Given the description of an element on the screen output the (x, y) to click on. 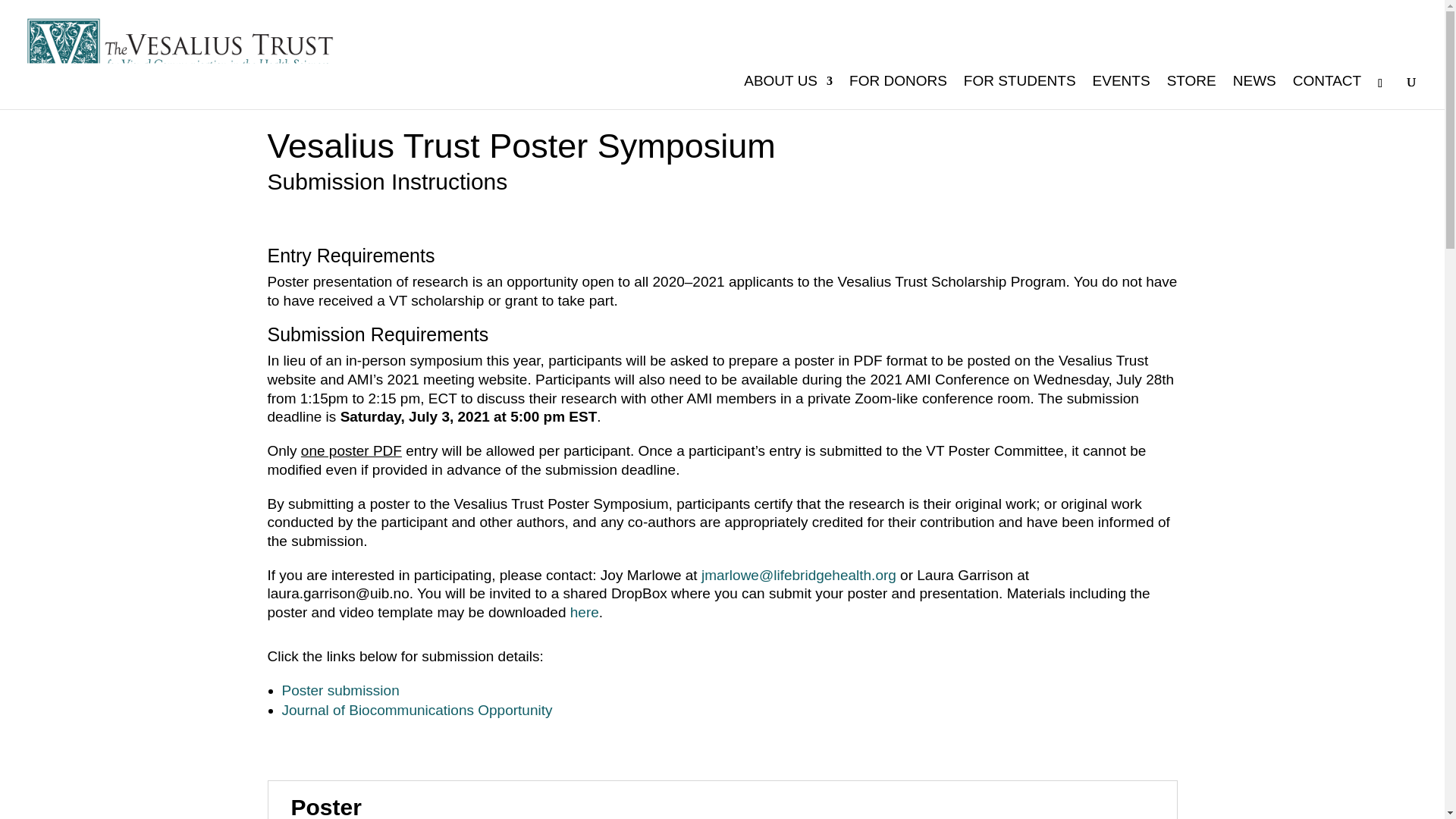
FOR STUDENTS (1019, 92)
NEWS (1254, 92)
CONTACT (1326, 92)
EVENTS (1121, 92)
ABOUT US (788, 92)
here (584, 611)
FOR DONORS (897, 92)
STORE (1191, 92)
Journal of Biocommunications Opportunity (417, 709)
Poster submission (340, 690)
